Given the description of an element on the screen output the (x, y) to click on. 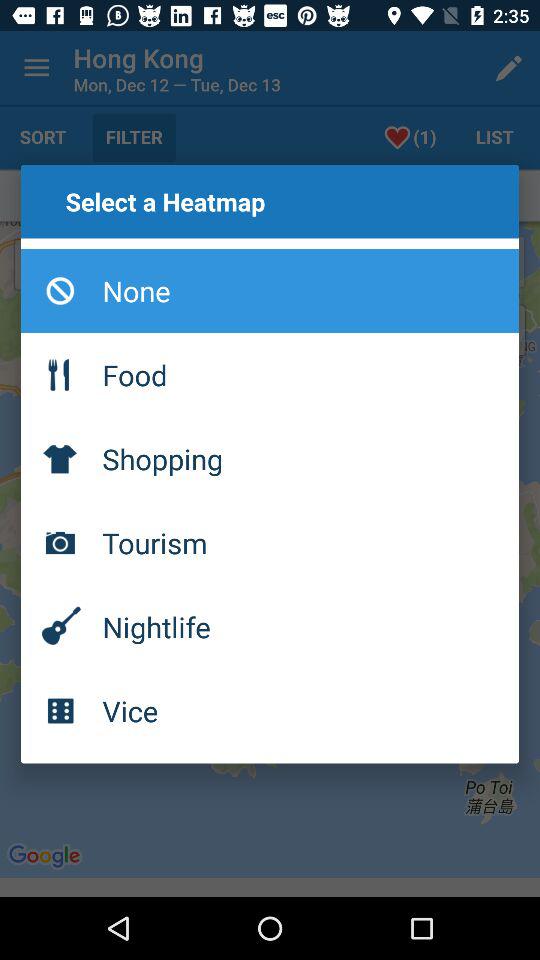
turn off item below the shopping item (270, 543)
